Given the description of an element on the screen output the (x, y) to click on. 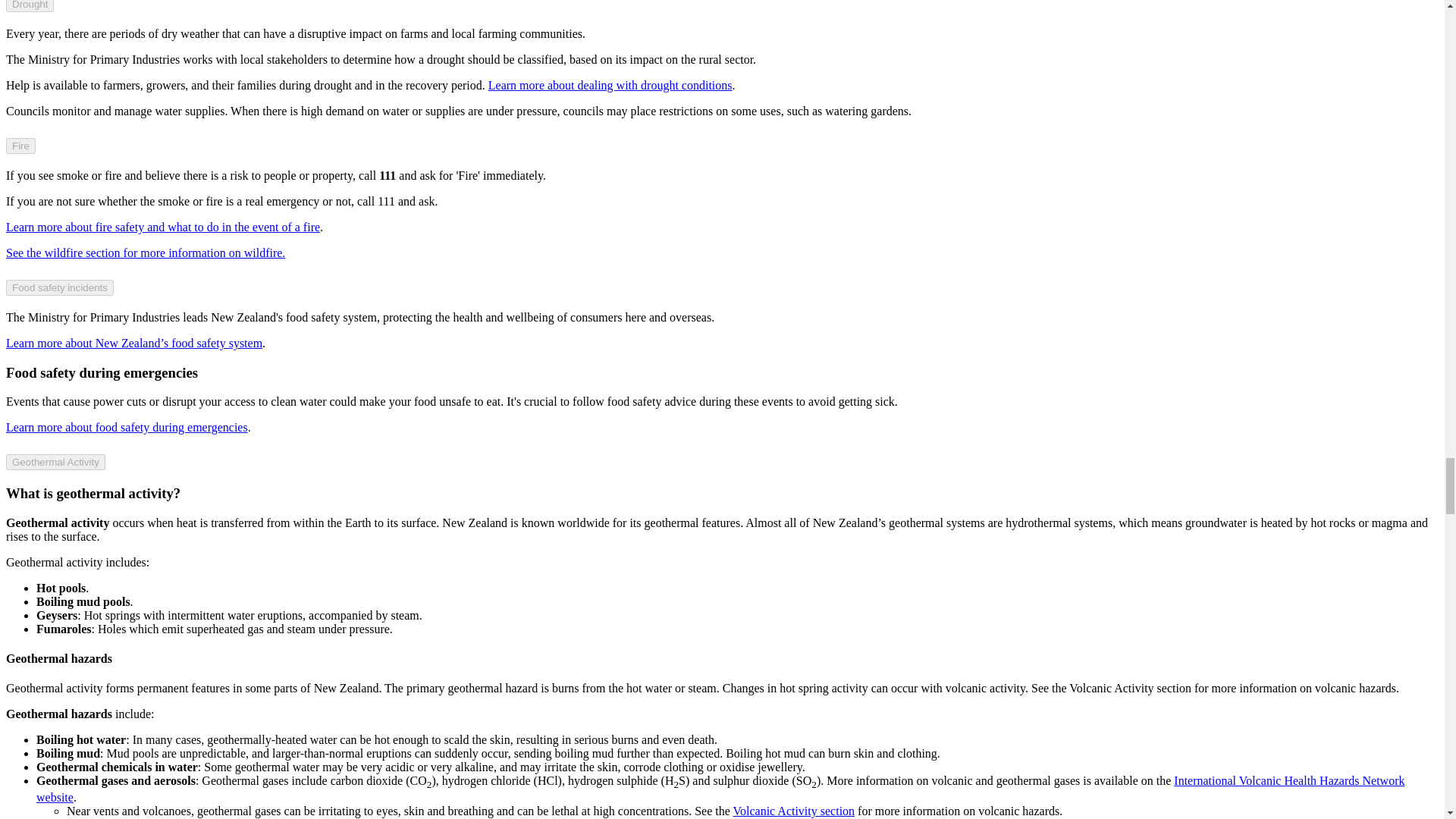
Learn about New Zealand's food safety system (133, 342)
Consistent messages for volcanic activity (794, 810)
Learn about the health impacts of volcanic gases (720, 788)
Learn about food safety during emergencies (126, 427)
Learn about dealing with drought conditions (609, 84)
